Given the description of an element on the screen output the (x, y) to click on. 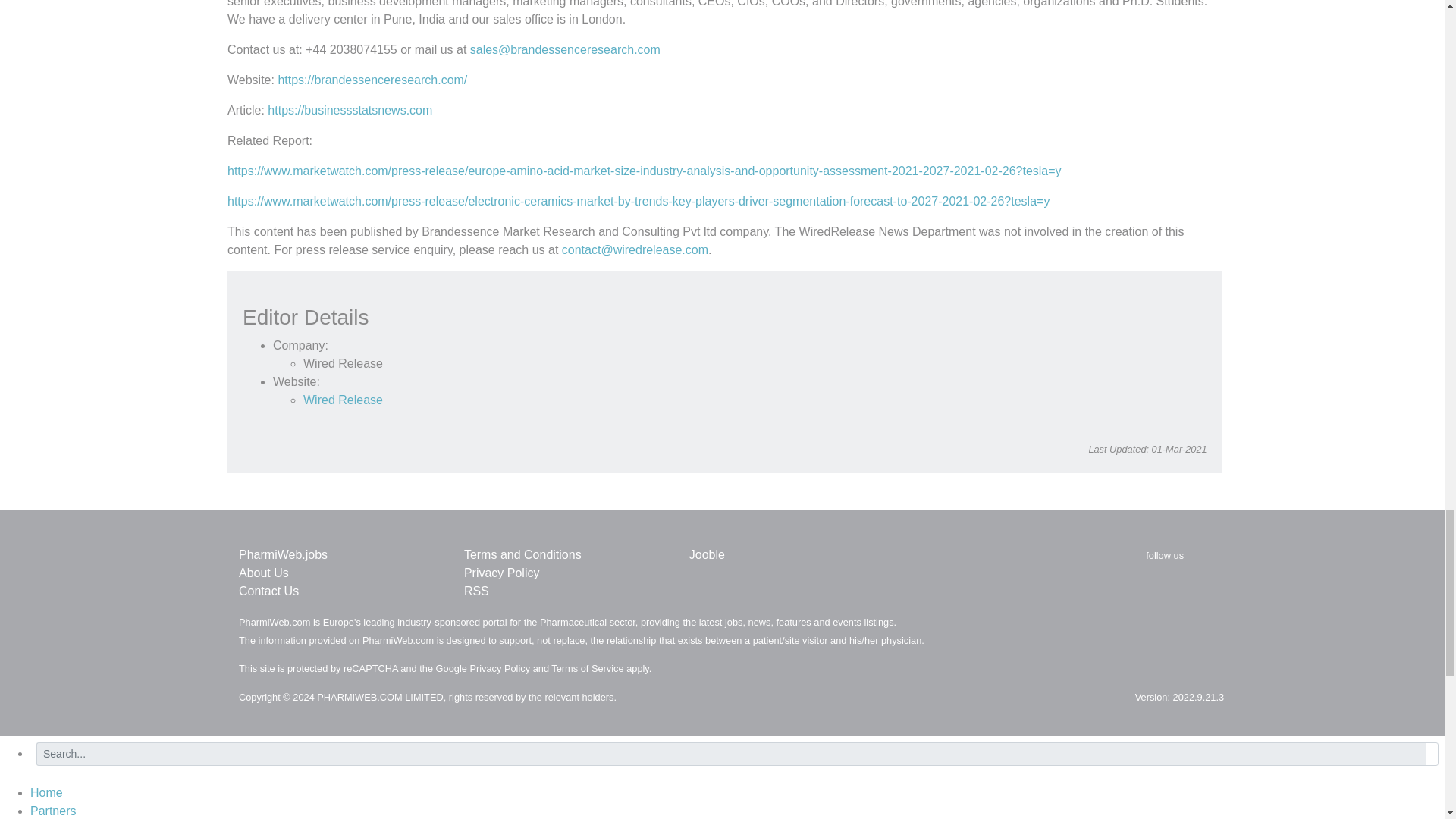
Privacy Policy (502, 572)
Privacy Policy (498, 668)
Terms of Service (587, 668)
Contact Us (268, 590)
Jooble (706, 554)
About Us (263, 572)
Terms and Conditions (522, 554)
Partners (52, 810)
Wired Release (342, 399)
Home (46, 792)
